Given the description of an element on the screen output the (x, y) to click on. 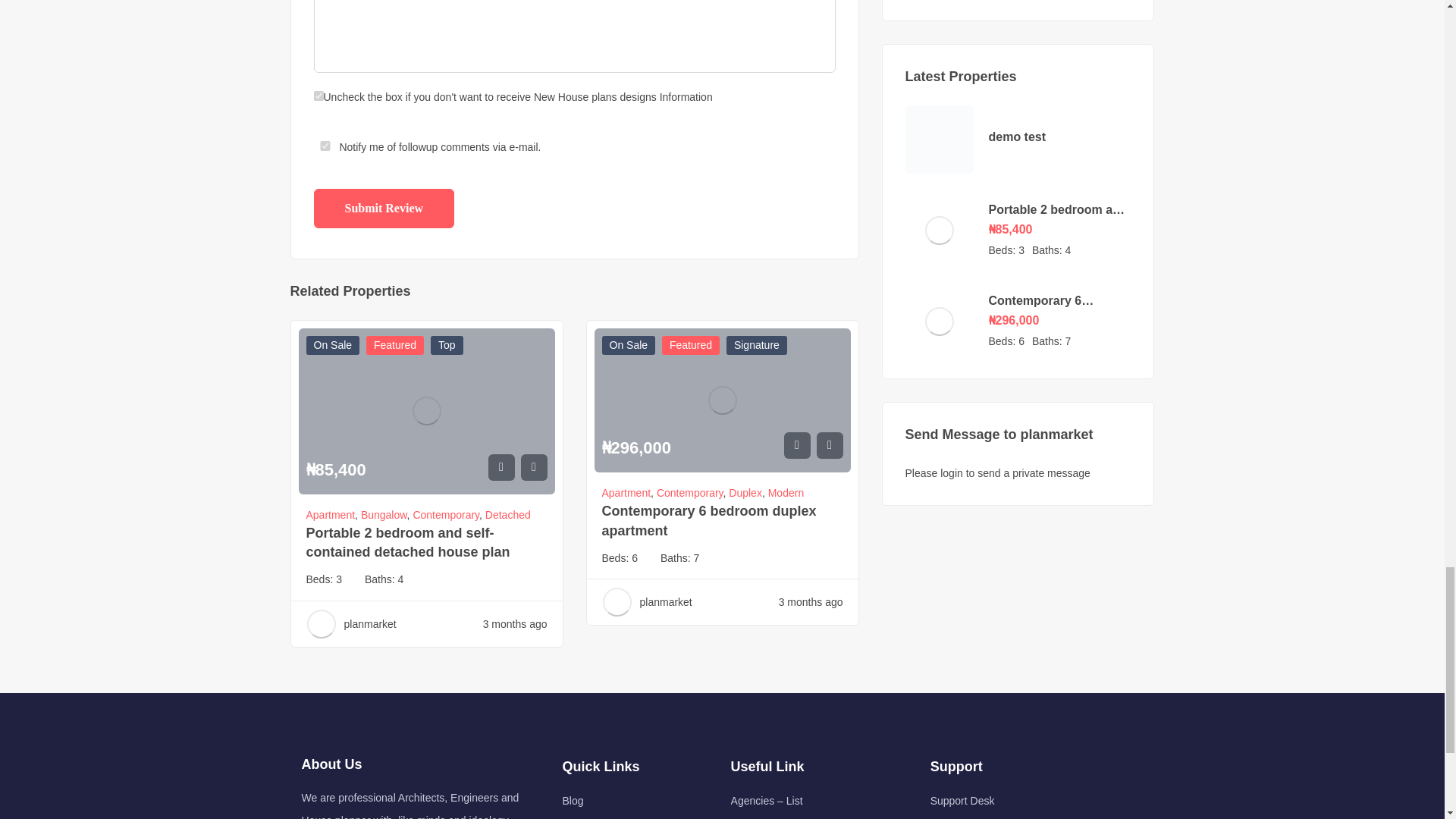
Add Favorite (501, 467)
Submit Review (384, 208)
1 (318, 95)
yes (325, 145)
Add Compare (533, 467)
Add Favorite (797, 445)
Add Compare (829, 445)
